Given the description of an element on the screen output the (x, y) to click on. 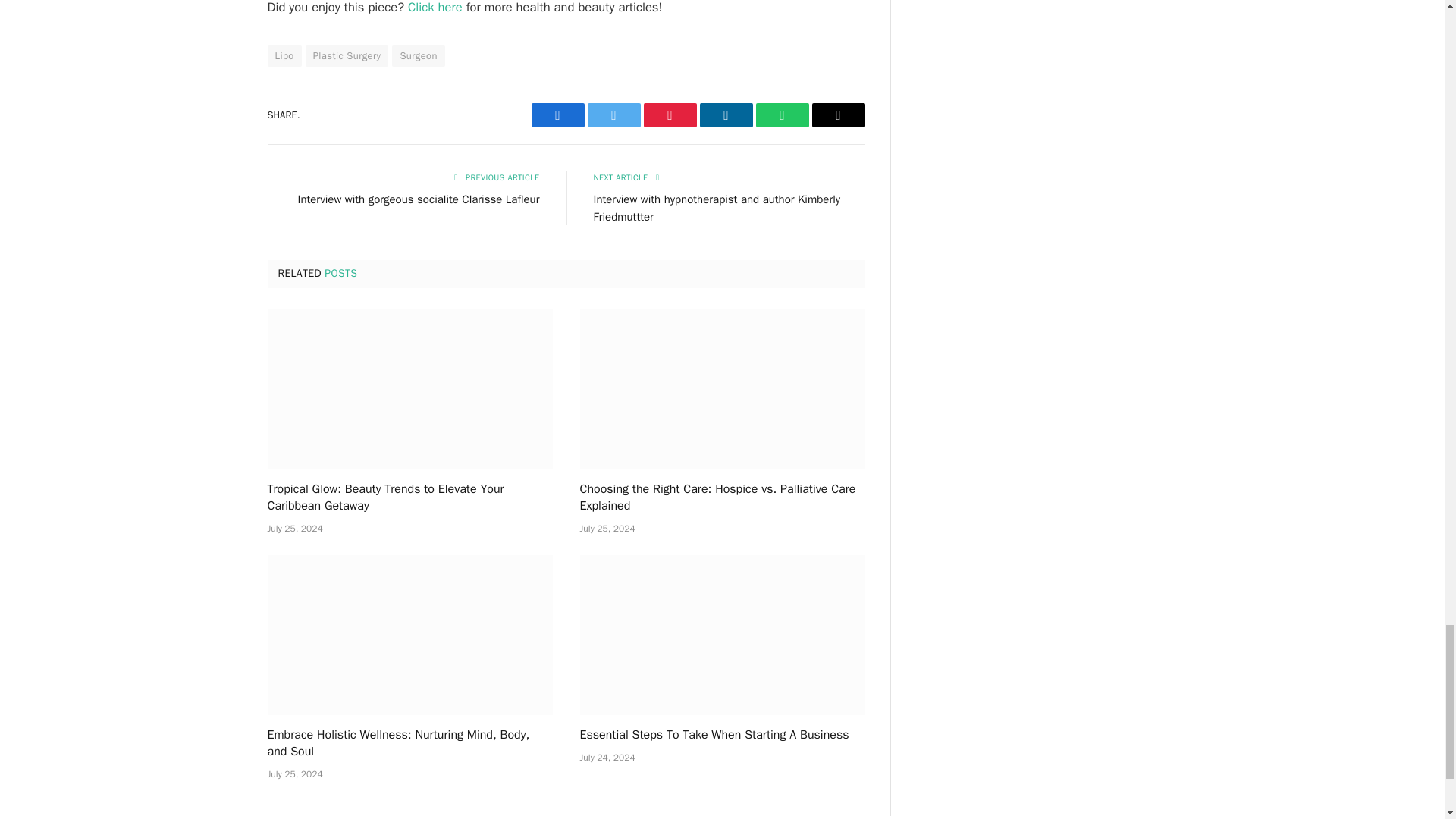
Lipo (283, 55)
Share on Pinterest (669, 115)
Click here (435, 7)
Share on Facebook (557, 115)
Twitter (613, 115)
Plastic Surgery (346, 55)
Share on LinkedIn (725, 115)
Facebook (557, 115)
Surgeon (417, 55)
